Given the description of an element on the screen output the (x, y) to click on. 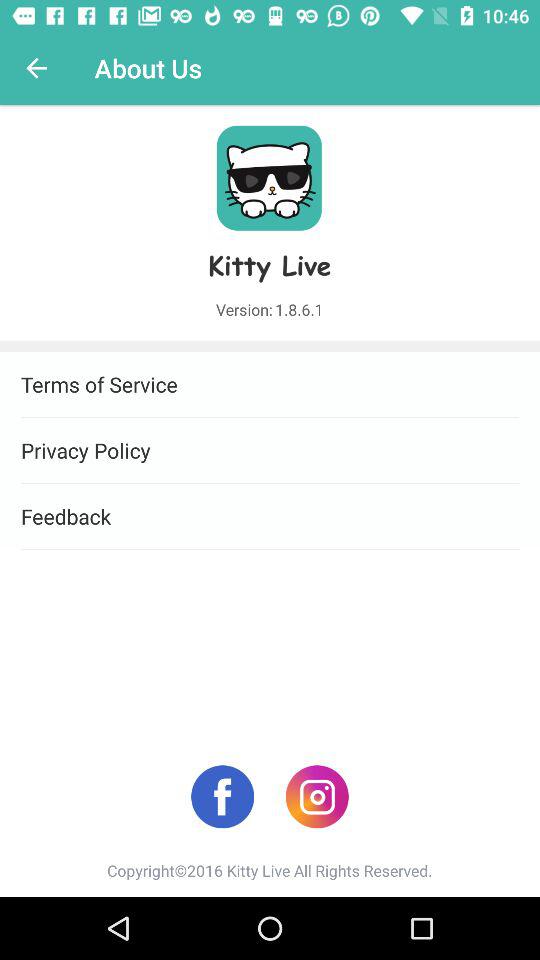
load instagram page (316, 796)
